Given the description of an element on the screen output the (x, y) to click on. 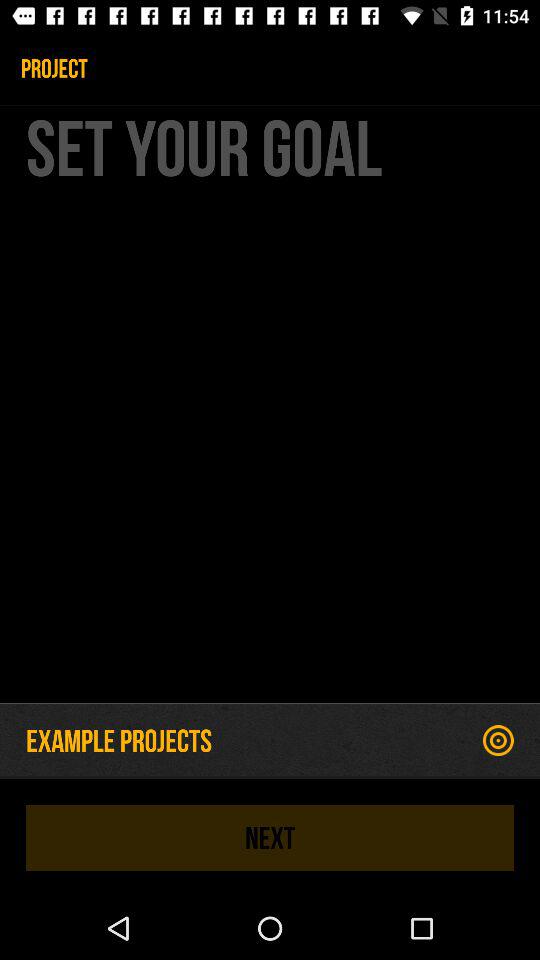
tap the icon below the example projects (270, 837)
